Given the description of an element on the screen output the (x, y) to click on. 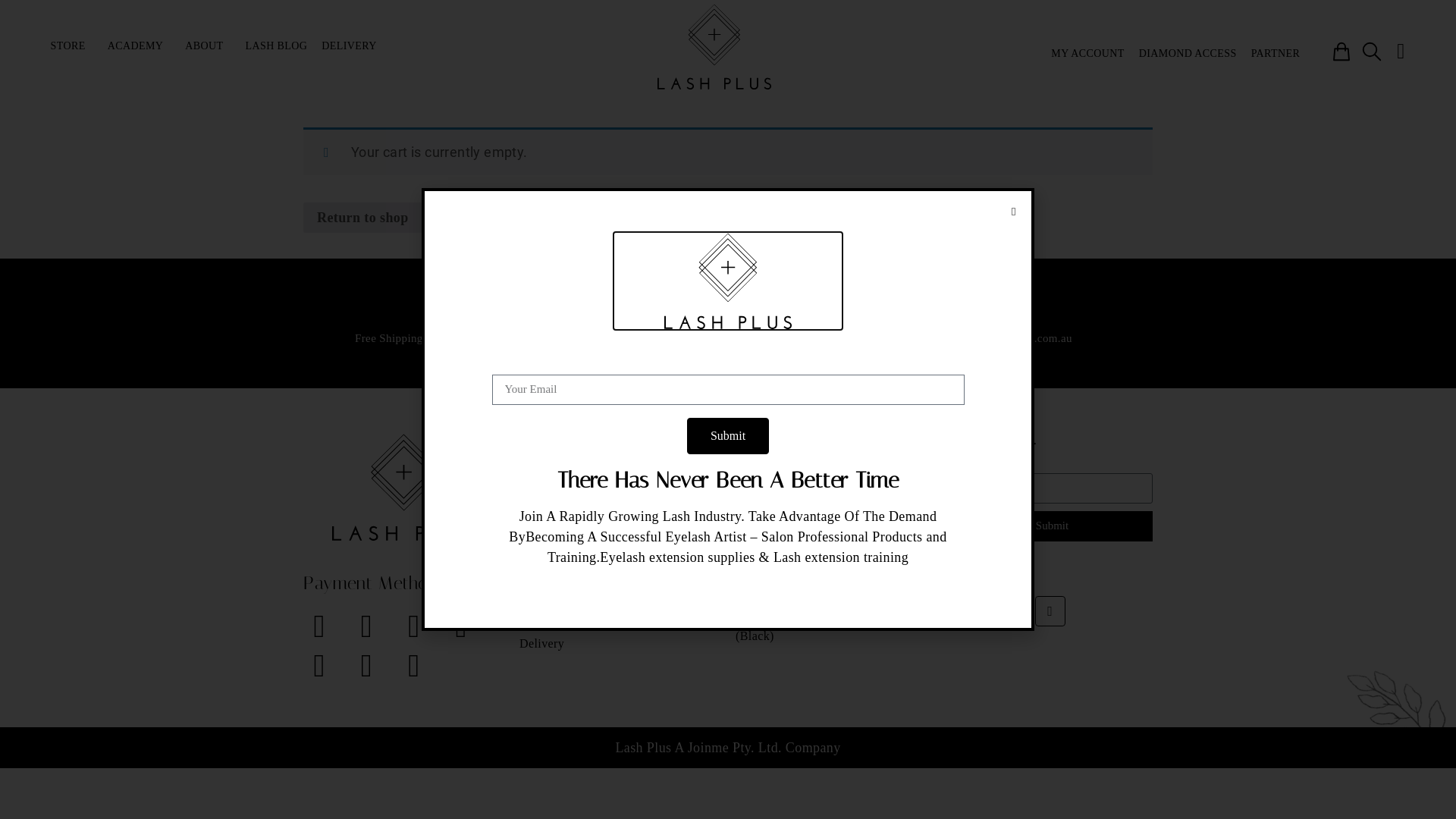
Return to shop Element type: text (362, 217)
About Element type: text (619, 597)
Partner Element type: text (619, 575)
ABOUT Element type: text (207, 45)
DIAMOND ACCESS Element type: text (1187, 53)
PARTNER Element type: text (1275, 53)
Delivery Element type: text (619, 643)
Mastering Volume Eyelash Extensions Element type: text (619, 529)
Lash+ Gel Lash Remover Element type: text (835, 506)
MY ACCOUNT Element type: text (1087, 53)
DELIVERY Element type: text (352, 45)
STORE Element type: text (71, 45)
Lash+ Aftercare Shampoo Element type: text (835, 484)
Lash+ Pre-treatment Element type: text (835, 529)
Lash+ Primer Element type: text (835, 597)
Store Element type: text (619, 484)
Lash+ Volume Master Tweezers (Black) Element type: text (835, 628)
LASH BLOG Element type: text (276, 45)
Exclusive 1-on-1 Training Element type: text (619, 506)
Lash+ Eye Patches (50 pack) Element type: text (835, 552)
Submit Element type: text (727, 435)
follow us on instagram Element type: text (728, 338)
Contact Element type: text (619, 620)
Submit Element type: text (1051, 526)
Diamond Access Element type: text (619, 552)
ACADEMY Element type: text (139, 45)
sales@lashplus.com.au Element type: text (1016, 338)
